Given the description of an element on the screen output the (x, y) to click on. 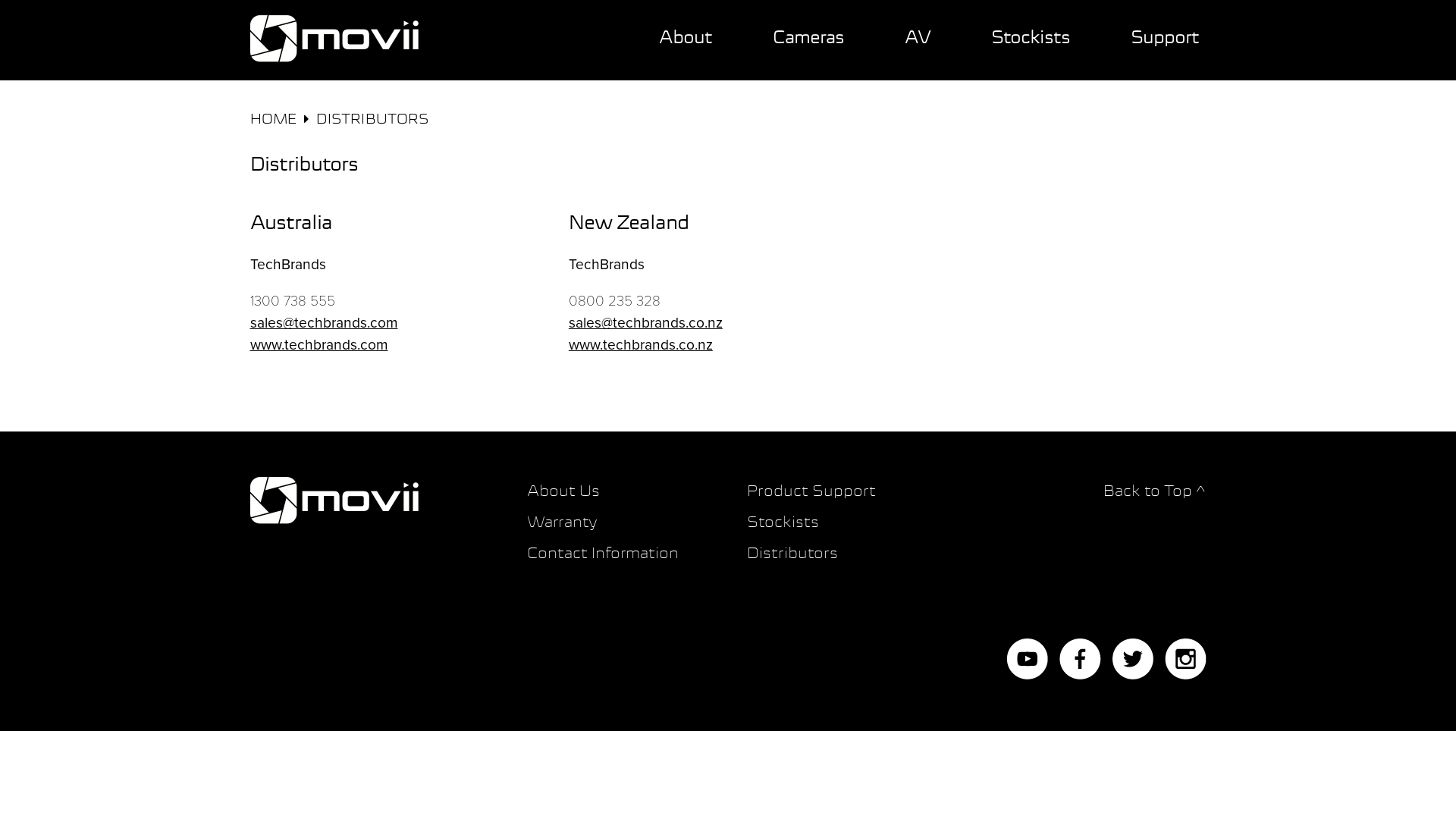
Distributors Element type: text (791, 553)
Back to Top ^ Element type: text (1154, 491)
About Element type: text (684, 49)
www.techbrands.co.nz Element type: text (640, 344)
Stockists Element type: text (782, 522)
HOME Element type: text (273, 119)
DISTRIBUTORS Element type: text (371, 119)
Product Support Element type: text (810, 491)
Stockists Element type: text (1029, 49)
AV Element type: text (916, 49)
Cameras Element type: text (807, 49)
sales@techbrands.com Element type: text (324, 322)
sales@techbrands.co.nz Element type: text (645, 322)
www.techbrands.com Element type: text (319, 344)
About Us Element type: text (563, 491)
Support Element type: text (1163, 49)
Warranty Element type: text (562, 522)
Contact Information Element type: text (602, 553)
